Given the description of an element on the screen output the (x, y) to click on. 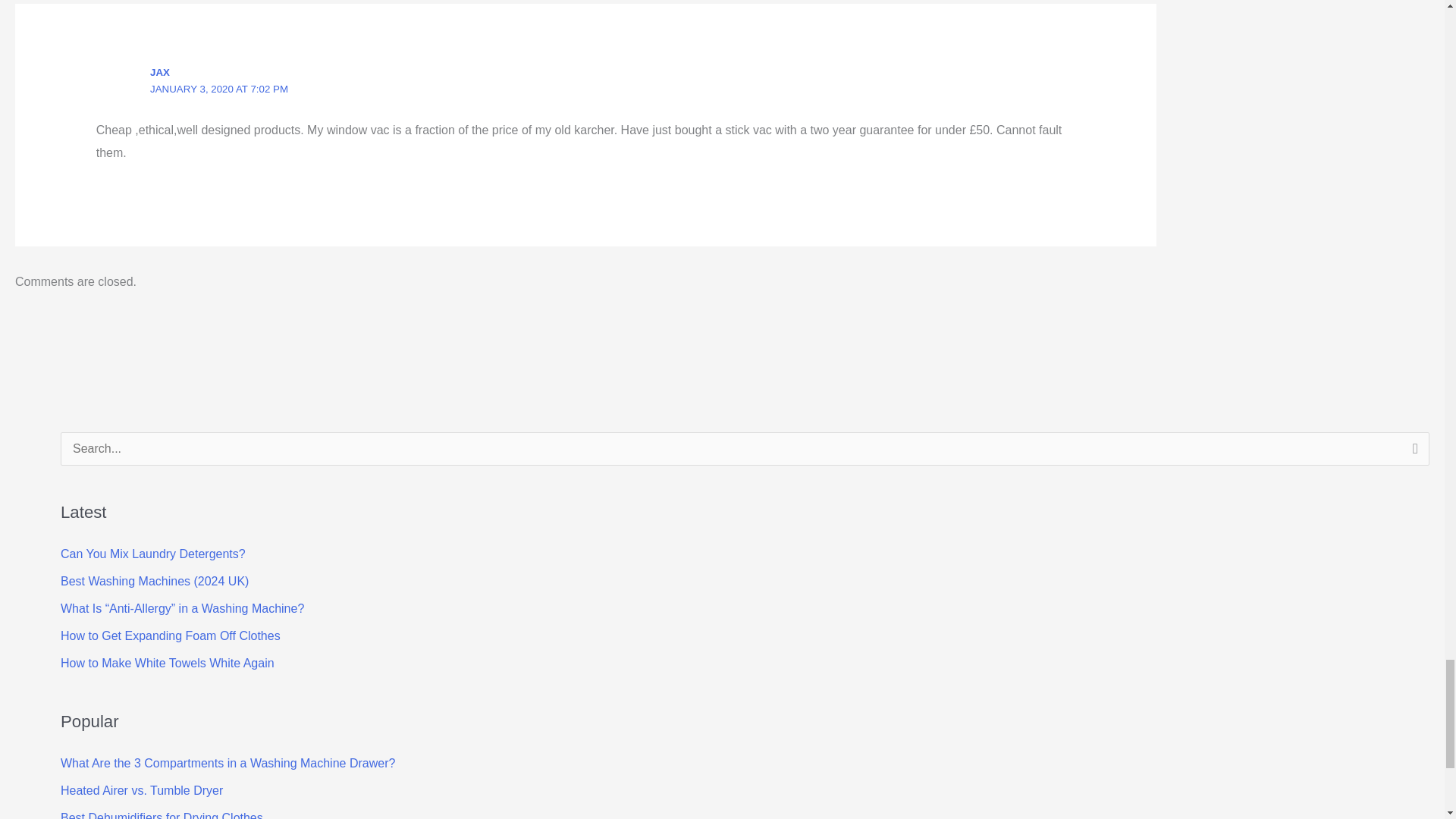
Search (1411, 453)
Search (1411, 453)
